Given the description of an element on the screen output the (x, y) to click on. 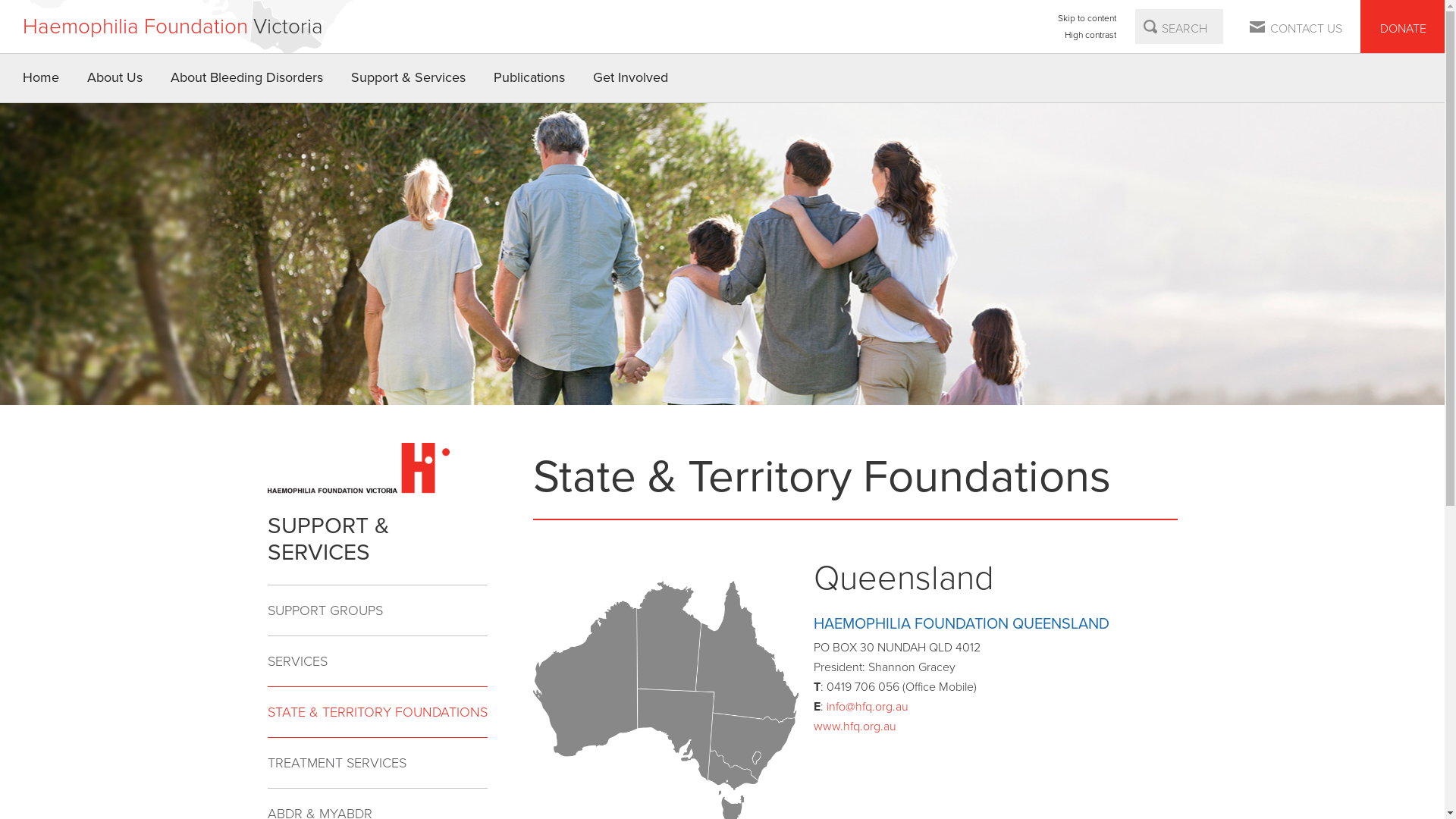
About Bleeding Disorders Element type: text (246, 77)
South Australia Element type: text (675, 734)
Australian Capital Territory Element type: text (755, 757)
Search Element type: text (1150, 26)
SUPPORT GROUPS Element type: text (376, 610)
Western Australia Element type: text (584, 678)
Support & Services Element type: text (408, 77)
Northern Territory Element type: text (669, 635)
STATE & TERRITORY FOUNDATIONS Element type: text (376, 711)
DONATE Element type: text (1402, 26)
New South Wales Element type: text (753, 745)
Get Involved Element type: text (630, 77)
www.hfq.org.au Element type: text (853, 726)
TREATMENT SERVICES Element type: text (376, 762)
info@hfq.org.au Element type: text (867, 706)
Victoria Element type: text (733, 769)
Skip to content Element type: text (1086, 17)
Queensland Element type: text (747, 650)
SERVICES Element type: text (376, 661)
About Us Element type: text (114, 77)
High contrast Element type: text (1086, 34)
CONTACT US Element type: text (1296, 26)
Publications Element type: text (529, 77)
Home Element type: text (41, 77)
